Given the description of an element on the screen output the (x, y) to click on. 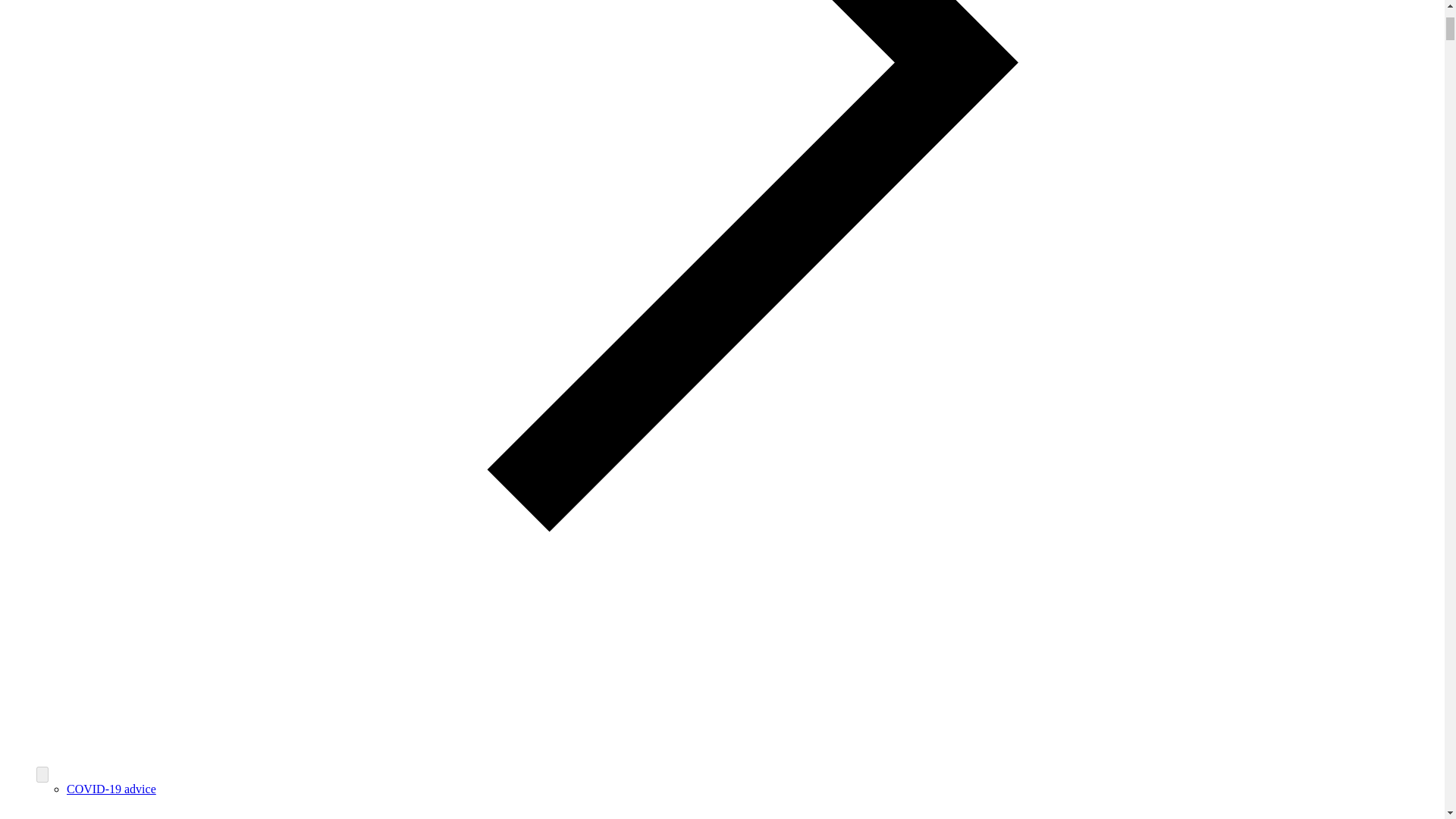
COVID-19 advice (110, 788)
